Given the description of an element on the screen output the (x, y) to click on. 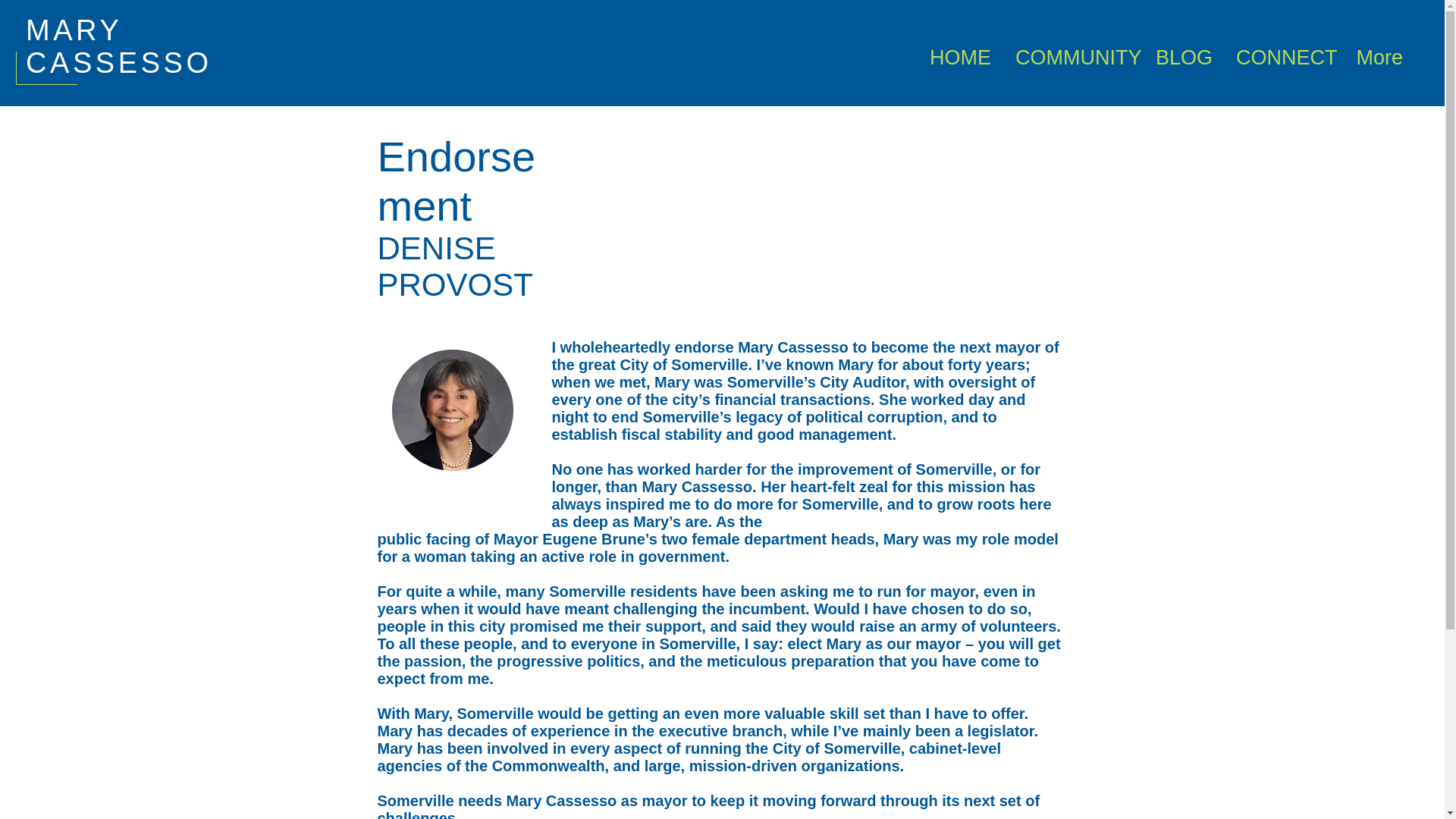
provost20.jpg (451, 409)
CONNECT (1282, 50)
COMMUNITY (1071, 50)
BLOG (1182, 50)
HOME (958, 50)
